Given the description of an element on the screen output the (x, y) to click on. 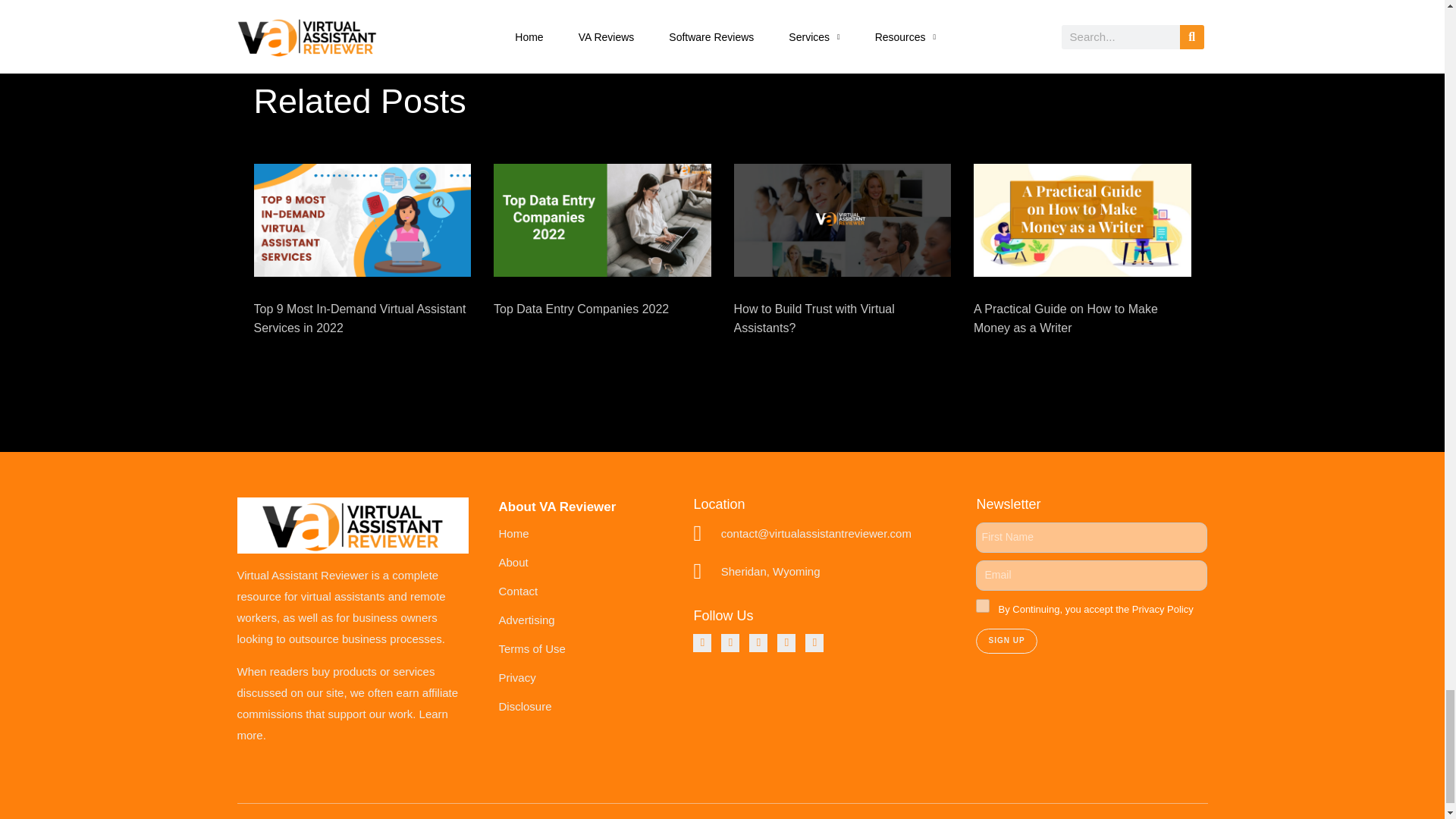
By Continuing, you accept the Privacy Policy (982, 605)
